Given the description of an element on the screen output the (x, y) to click on. 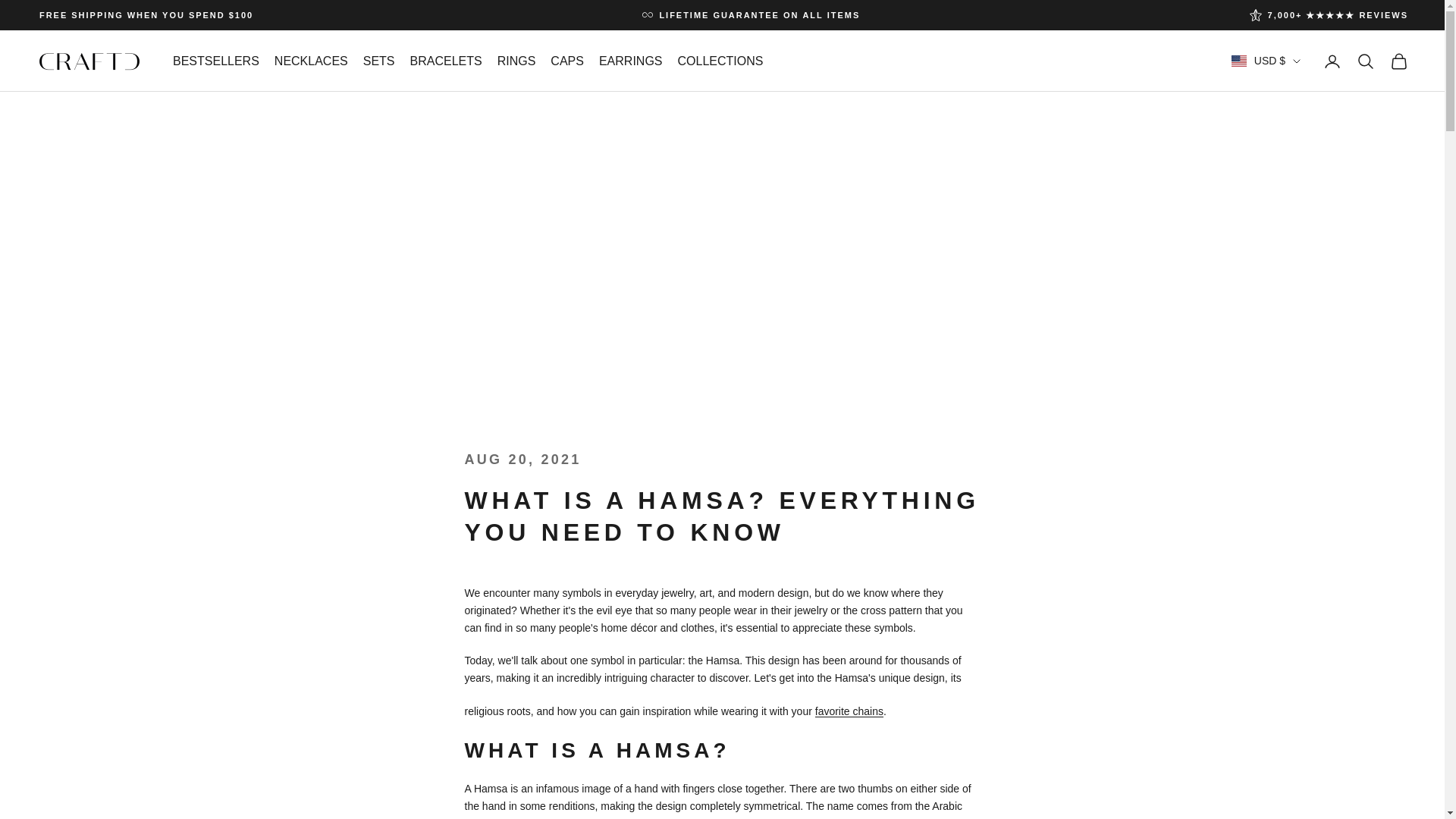
BESTSELLERS (216, 60)
CAPS (566, 60)
SETS (378, 60)
RINGS (516, 60)
CRAFTD (89, 60)
